Given the description of an element on the screen output the (x, y) to click on. 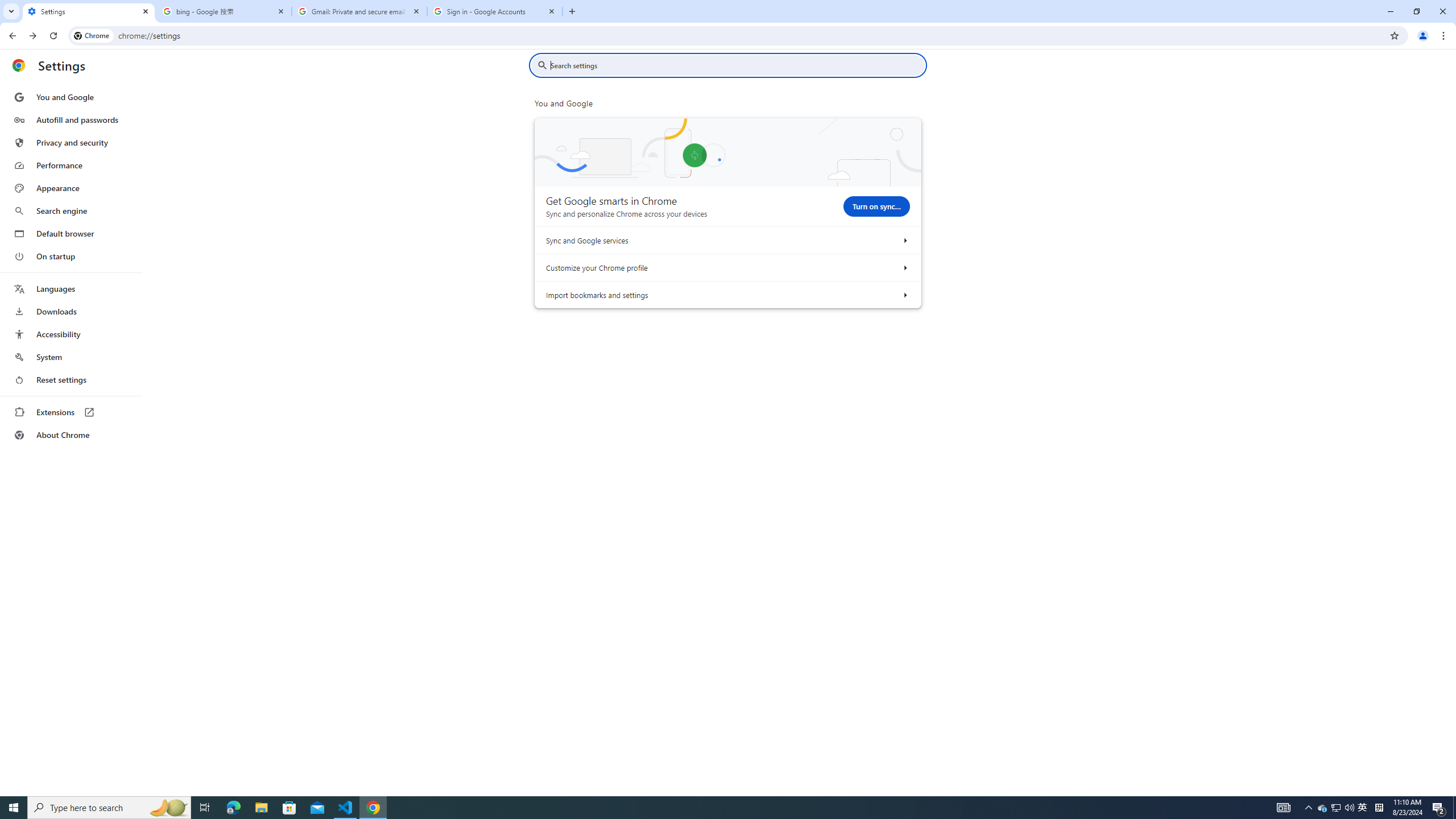
Sync and Google services (904, 239)
Sign in - Google Accounts (494, 11)
Reset settings (70, 379)
AutomationID: menu (71, 265)
Extensions (70, 412)
About Chrome (70, 434)
